Given the description of an element on the screen output the (x, y) to click on. 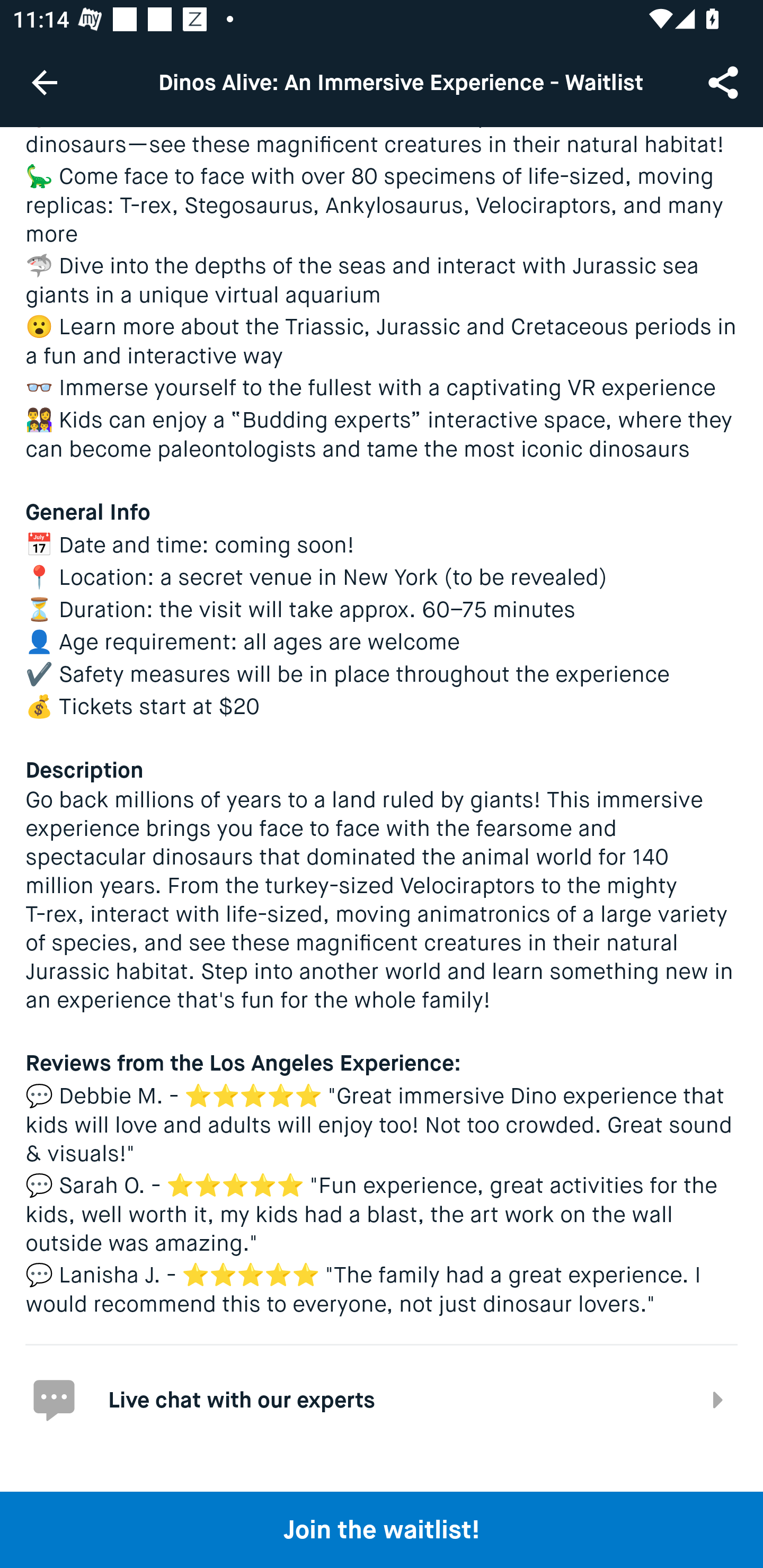
Navigate up (44, 82)
Share (724, 81)
Live chat with our experts (381, 1398)
Join the waitlist! (381, 1529)
